Given the description of an element on the screen output the (x, y) to click on. 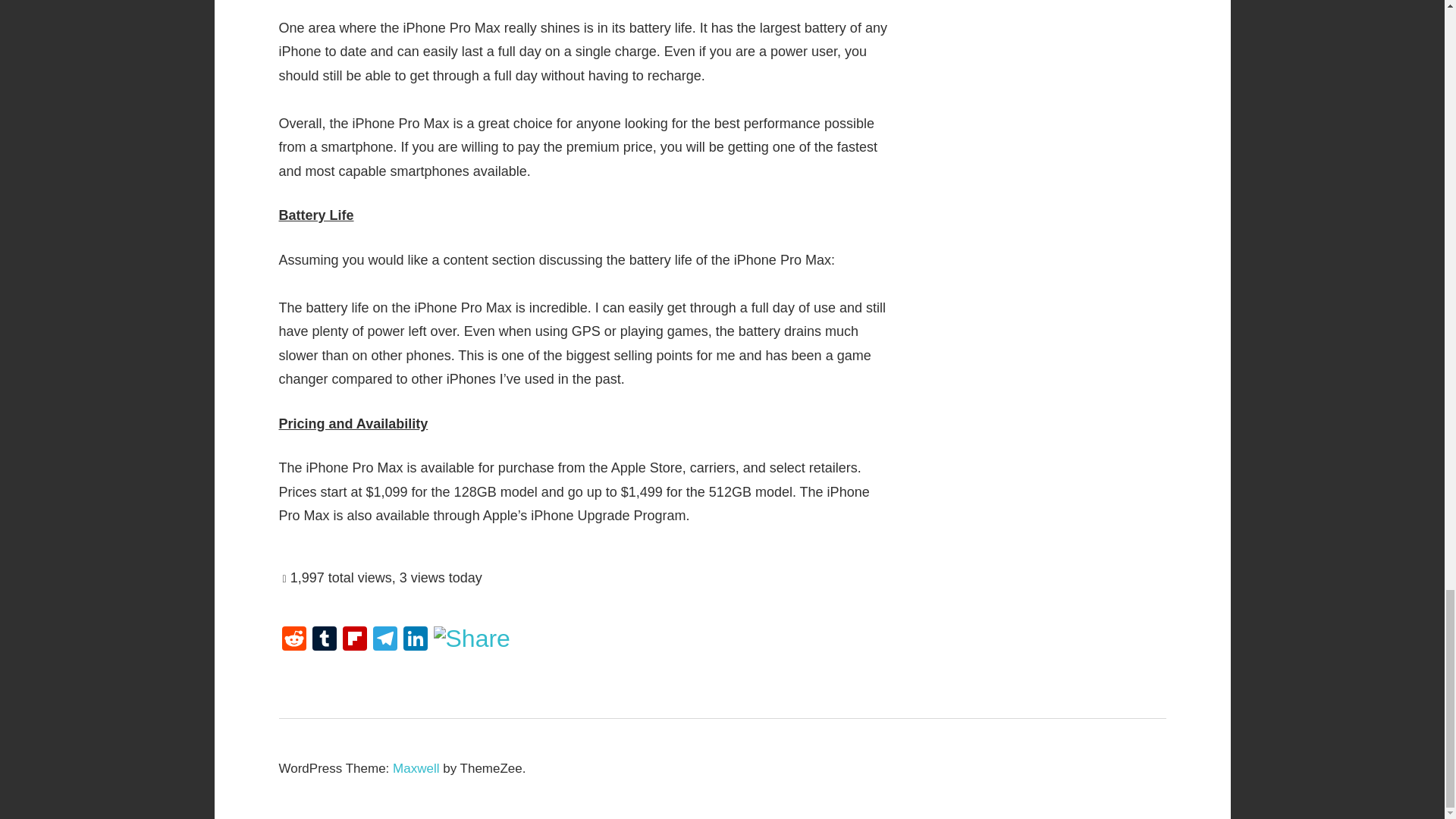
LinkedIn (415, 640)
LinkedIn (415, 640)
Tumblr (323, 640)
Reddit (293, 640)
Flipboard (354, 640)
Telegram (384, 640)
Maxwell WordPress Theme (416, 768)
Reddit (293, 640)
Flipboard (354, 640)
Tumblr (323, 640)
Maxwell (416, 768)
Telegram (384, 640)
